Given the description of an element on the screen output the (x, y) to click on. 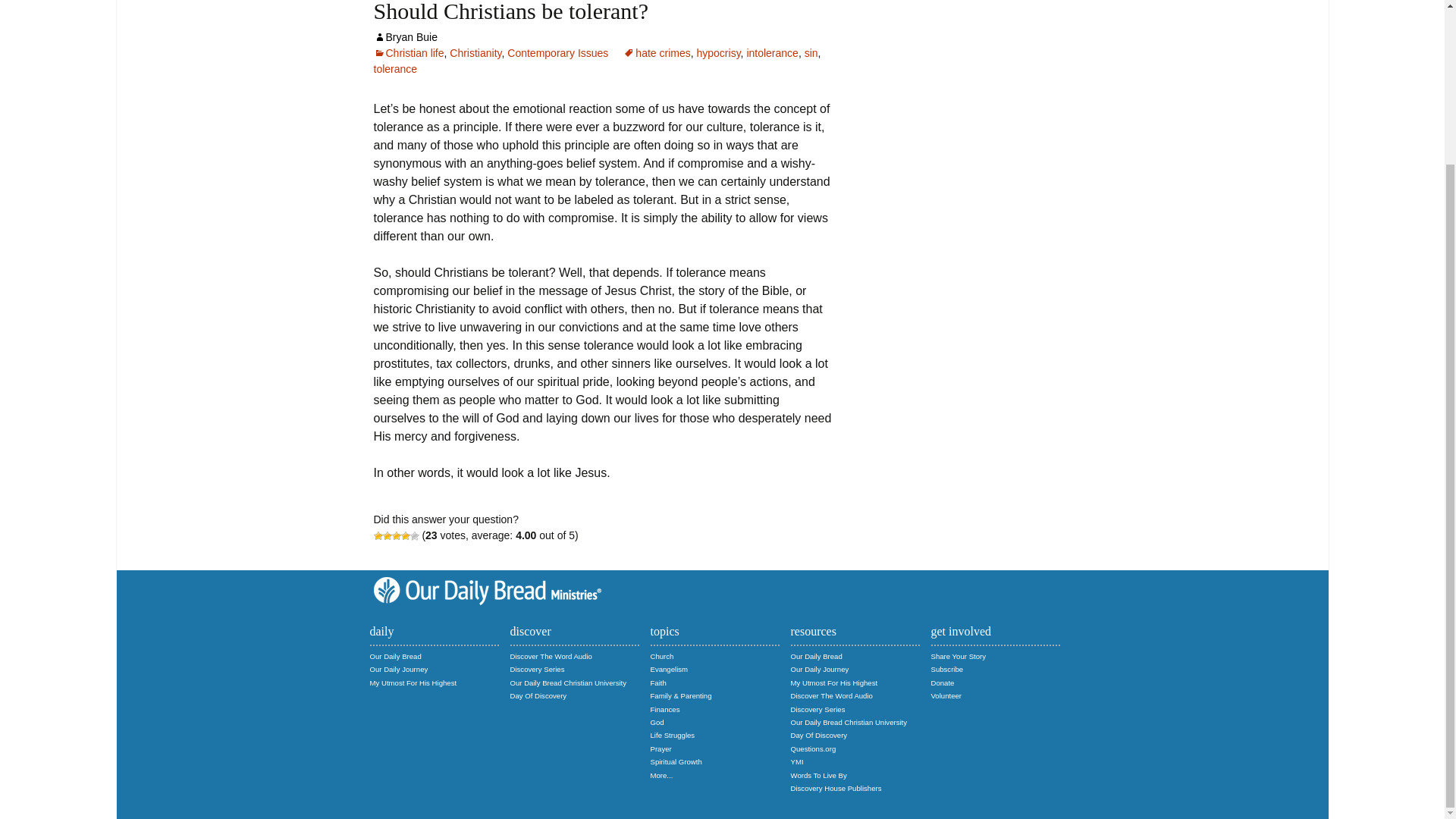
Church (662, 655)
Our Daily Bread (395, 655)
Day Of Discovery (537, 695)
3 Stars (395, 535)
hypocrisy (717, 52)
Bryan Buie (404, 37)
Christian life (408, 52)
Discover The Word Audio (550, 655)
Christianity (474, 52)
Evangelism (669, 669)
Our Daily Journey (398, 669)
hate crimes (656, 52)
My Utmost For His Highest (413, 682)
sin (811, 52)
Our Daily Bread Christian University (567, 682)
